Given the description of an element on the screen output the (x, y) to click on. 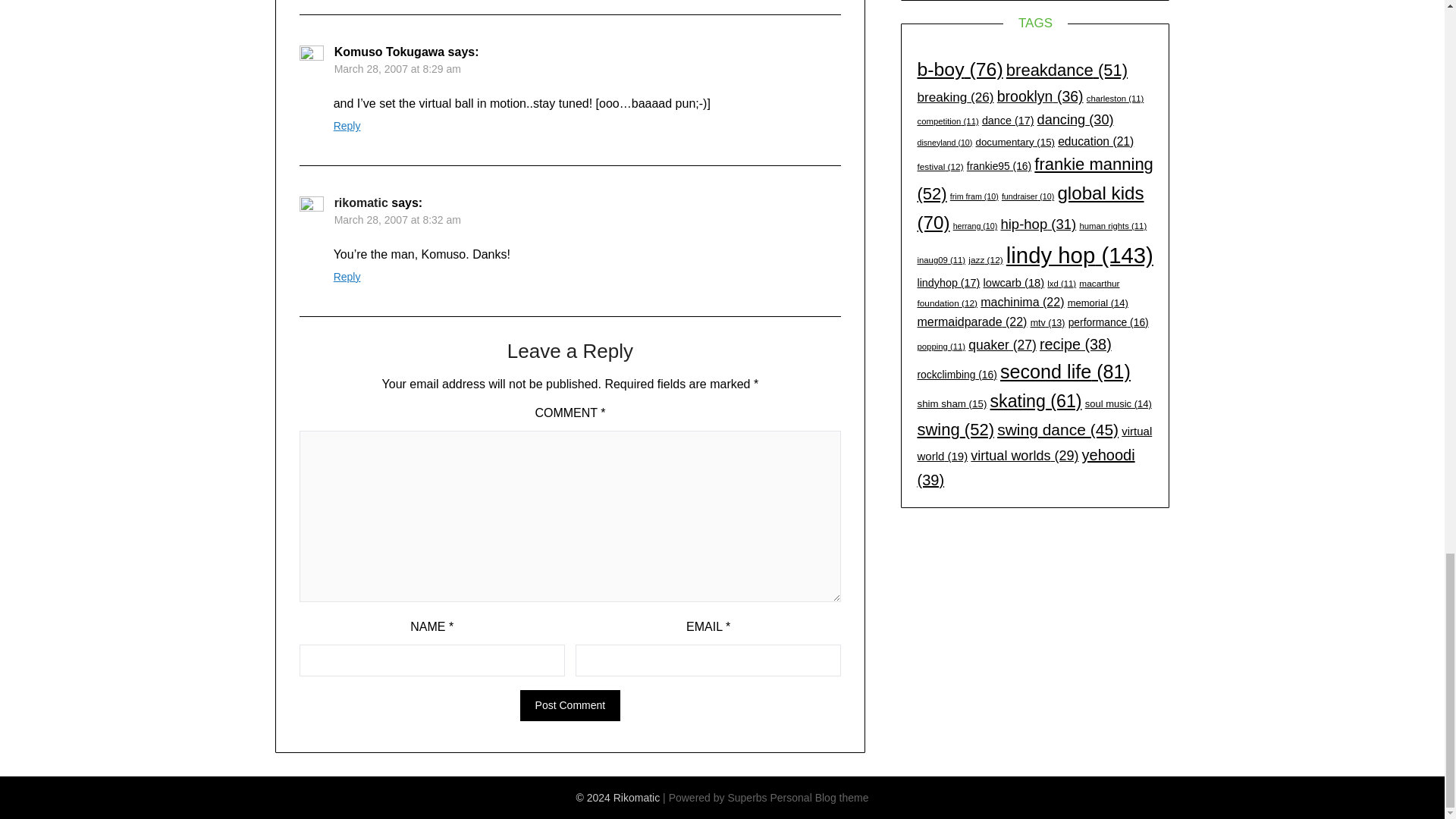
March 28, 2007 at 8:32 am (397, 219)
Post Comment (570, 705)
March 28, 2007 at 8:29 am (397, 69)
rikomatic (361, 202)
Reply (347, 125)
Reply (347, 276)
Post Comment (570, 705)
